Given the description of an element on the screen output the (x, y) to click on. 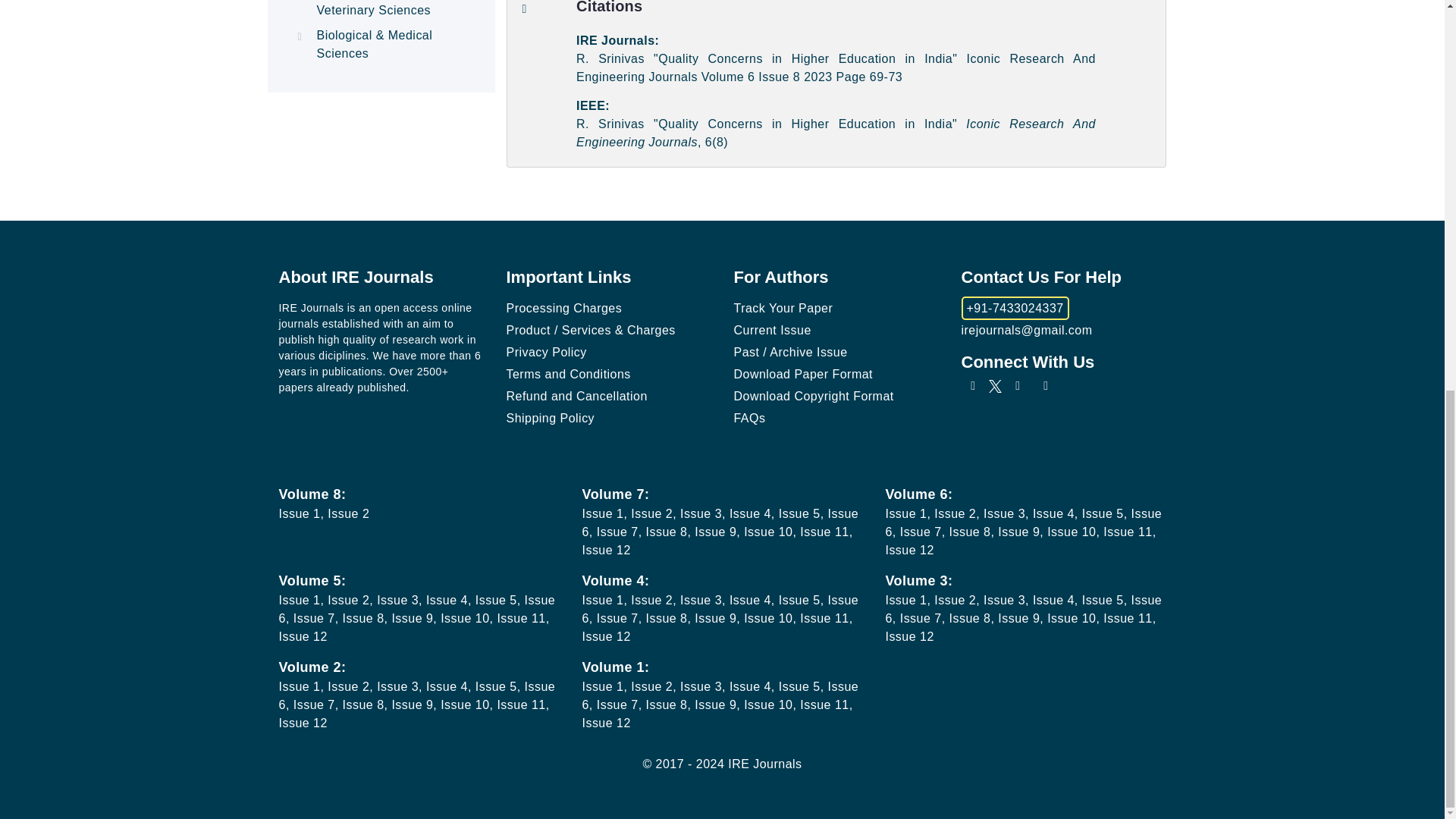
Agriculture and Veterinary Sciences (373, 8)
Processing Charges (564, 308)
Privacy Policy (546, 351)
